Given the description of an element on the screen output the (x, y) to click on. 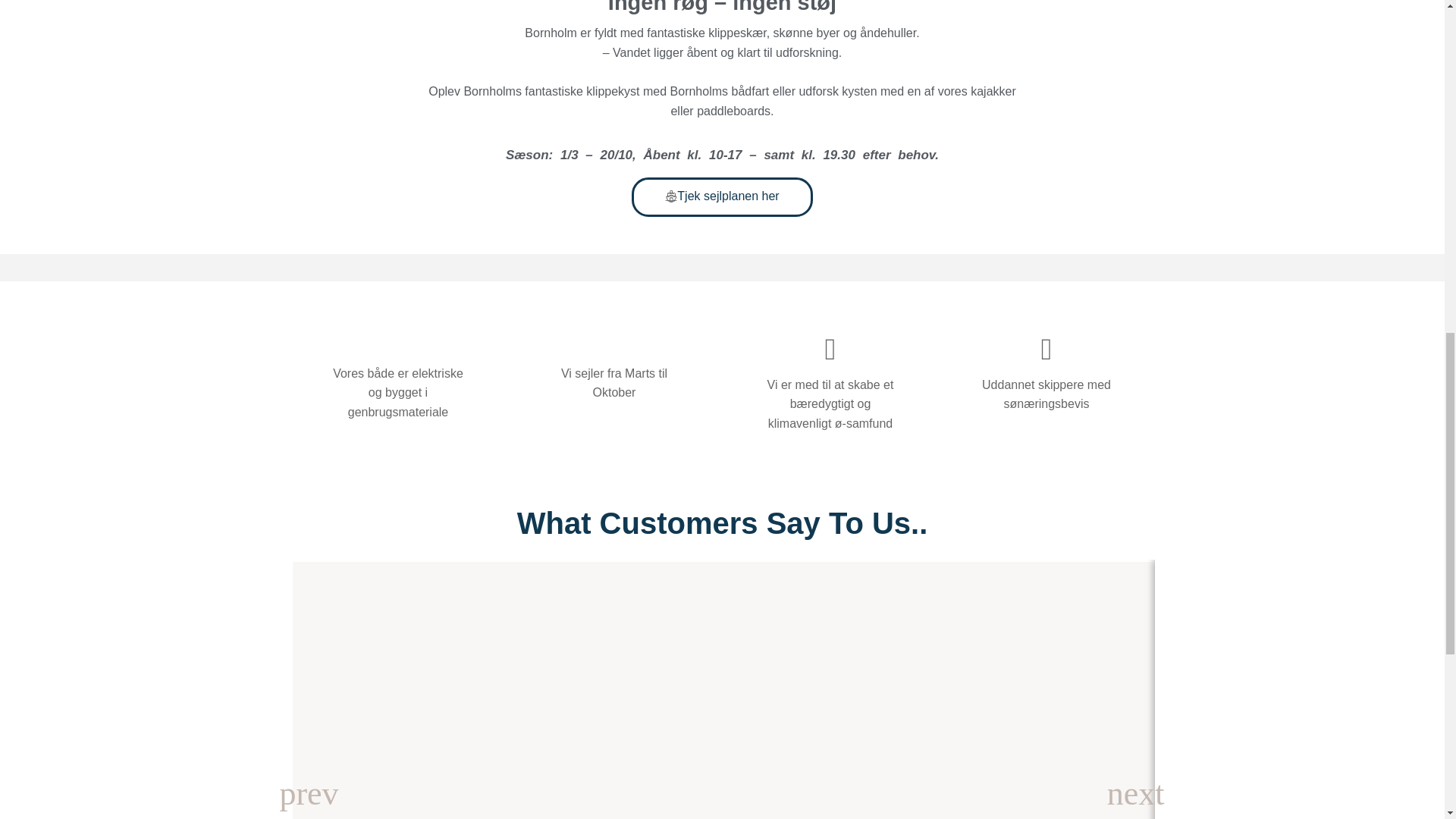
Tjek sejlplanen her (721, 197)
